Given the description of an element on the screen output the (x, y) to click on. 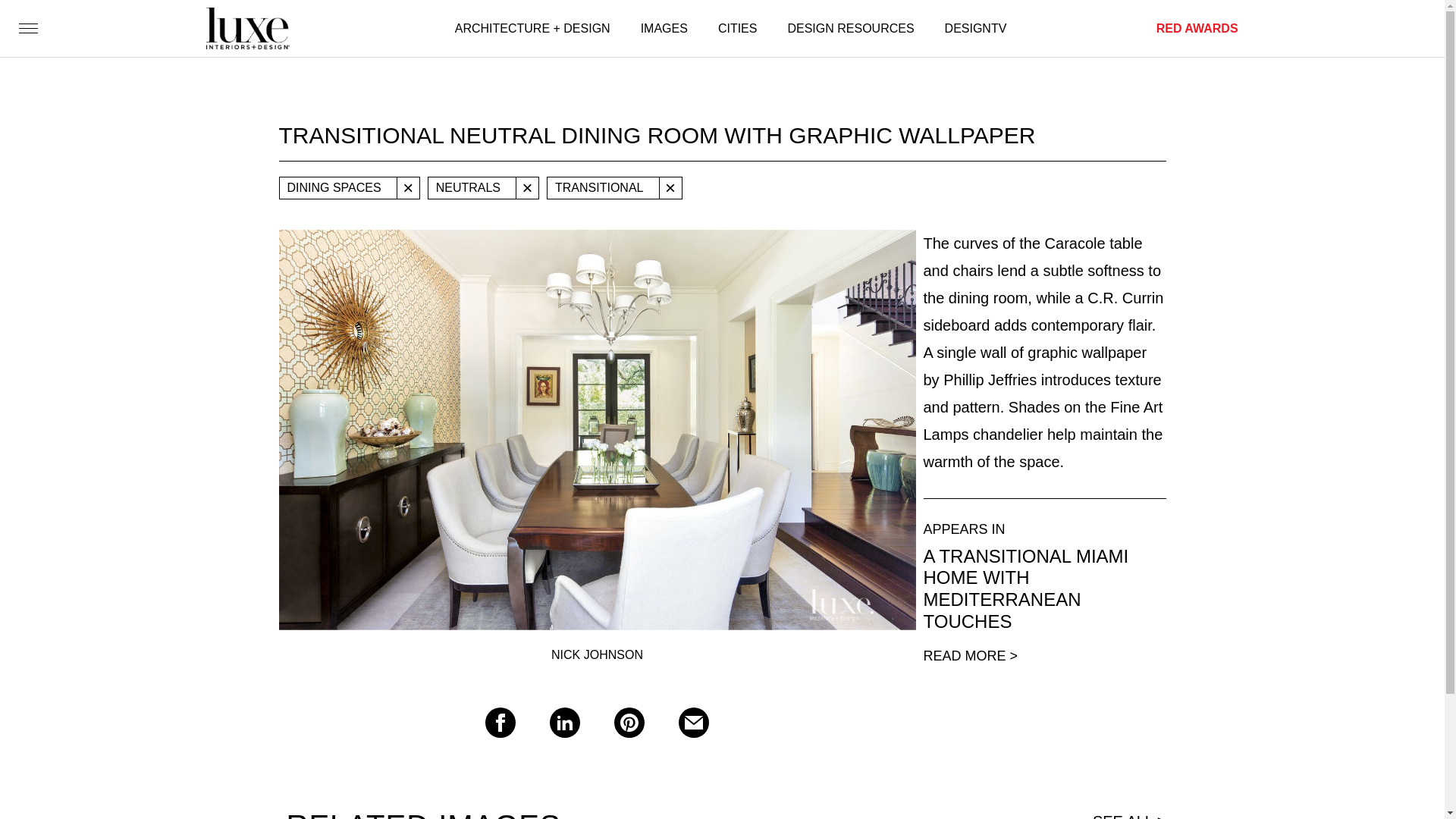
Skip Navigation (47, 8)
IMAGES (663, 28)
DESIGN RESOURCES (850, 28)
RED AWARDS (1197, 28)
DESIGNTV (975, 28)
RED Awards (1197, 28)
CITIES (737, 28)
